Given the description of an element on the screen output the (x, y) to click on. 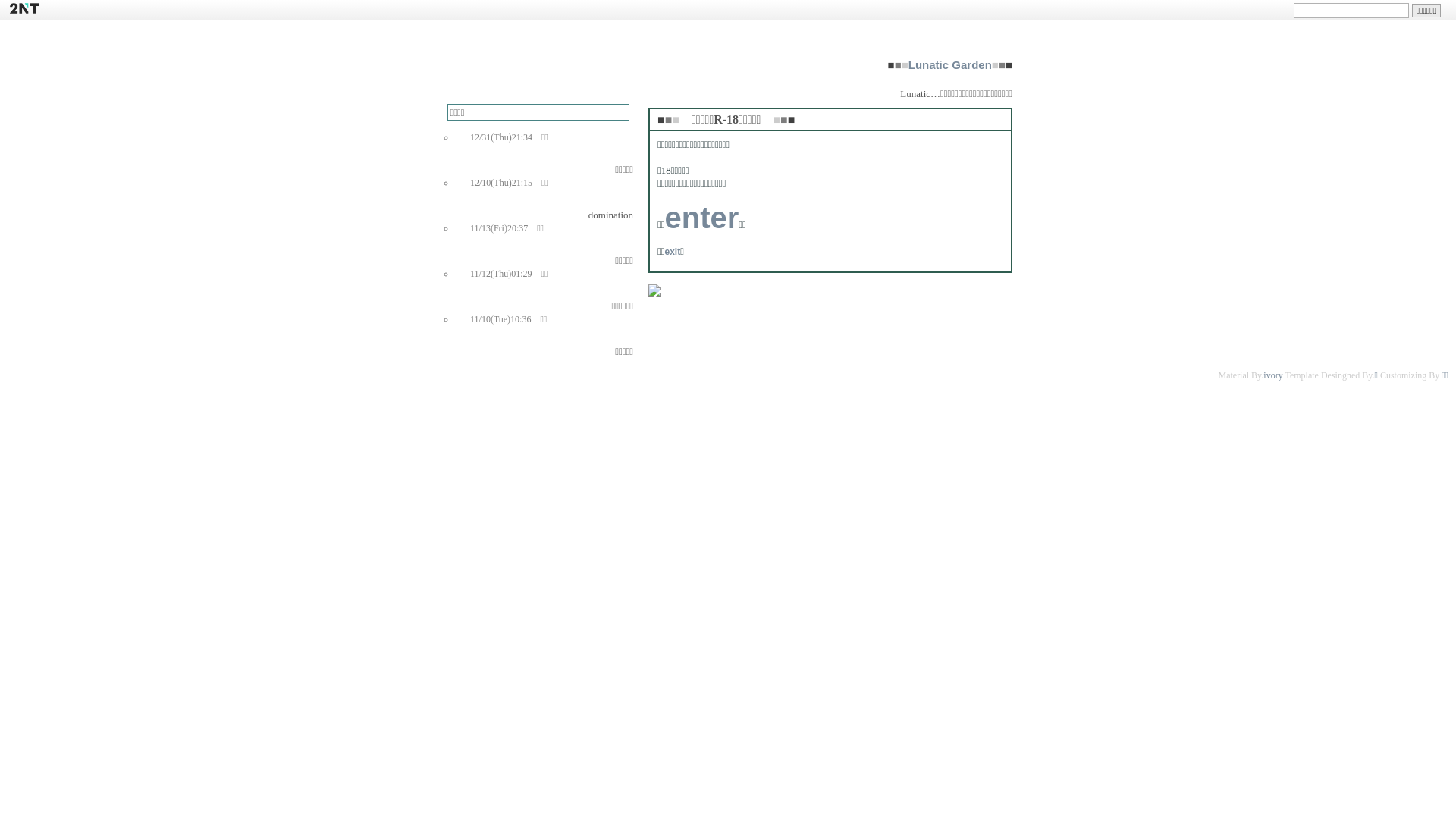
enter Element type: text (701, 217)
exit Element type: text (672, 251)
Lunatic Garden Element type: text (949, 64)
ivory Element type: text (1272, 375)
